Given the description of an element on the screen output the (x, y) to click on. 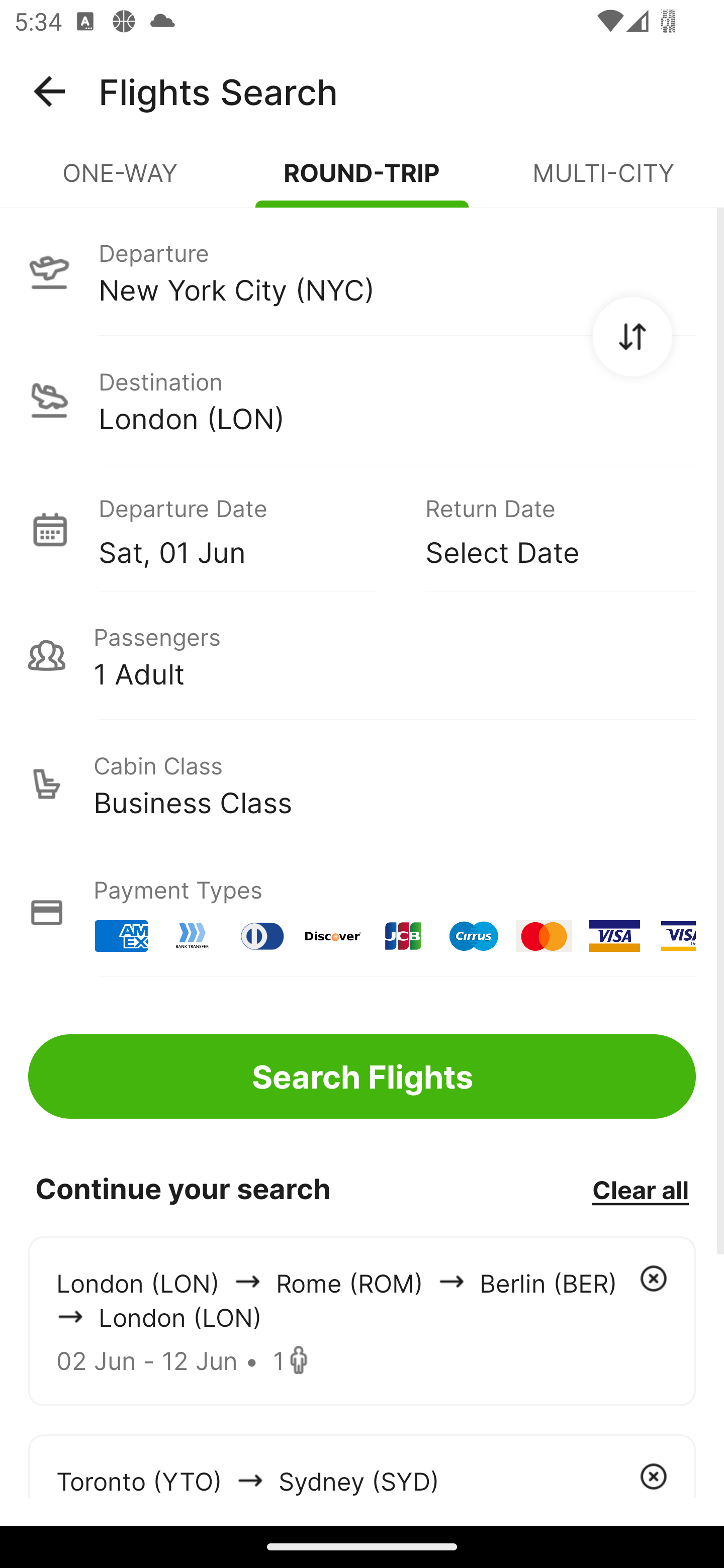
ONE-WAY (120, 180)
ROUND-TRIP (361, 180)
MULTI-CITY (603, 180)
Departure New York City (NYC) (362, 270)
Destination London (LON) (362, 400)
Departure Date Sat, 01 Jun (247, 528)
Return Date Select Date (546, 528)
Passengers 1 Adult (362, 655)
Cabin Class Business Class (362, 783)
Payment Types (362, 912)
Search Flights (361, 1075)
Clear all (640, 1189)
Toronto (YTO)  arrowIcon  Sydney (SYD) (361, 1465)
